Given the description of an element on the screen output the (x, y) to click on. 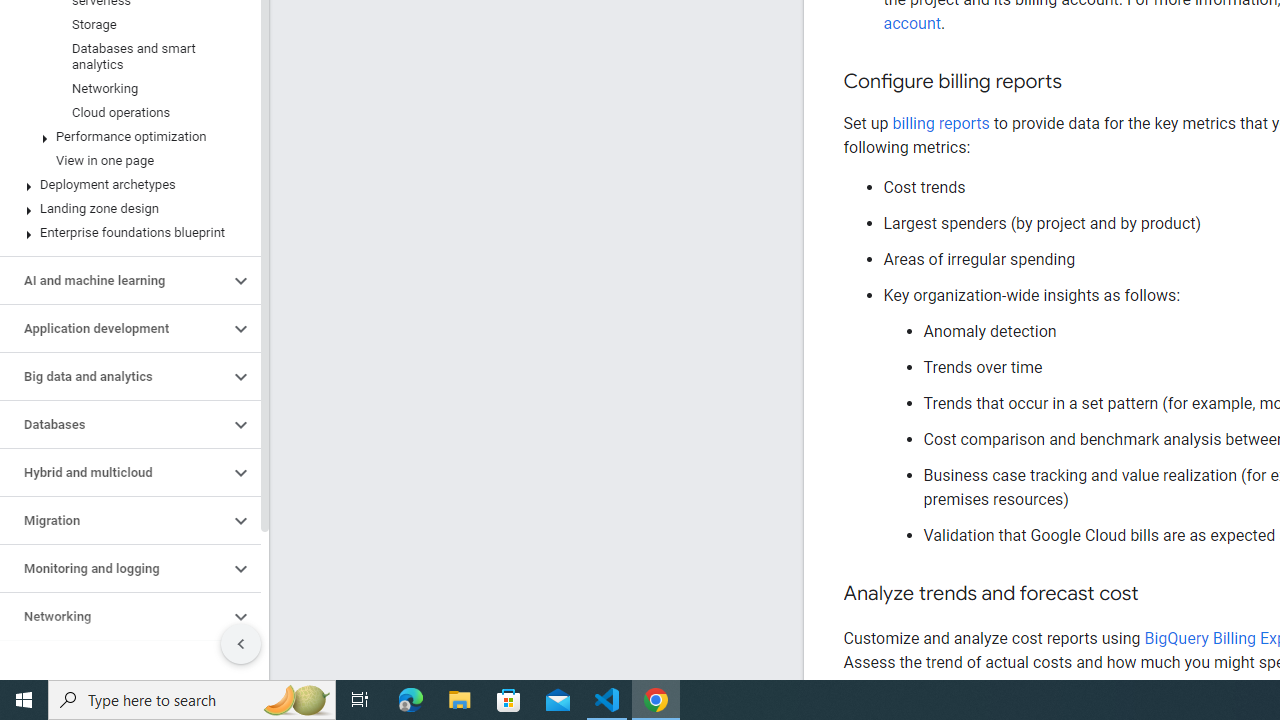
View in one page (126, 160)
Databases (114, 425)
Migration (114, 520)
Performance optimization (126, 137)
Application development (114, 328)
Hybrid and multicloud (114, 472)
Monitoring and logging (114, 569)
AI and machine learning (114, 281)
Cloud operations (126, 112)
Databases and smart analytics (126, 56)
Networking (126, 88)
Copy link to this section: Configure billing reports (1081, 82)
Enterprise foundations blueprint (126, 232)
Storage (126, 24)
